Given the description of an element on the screen output the (x, y) to click on. 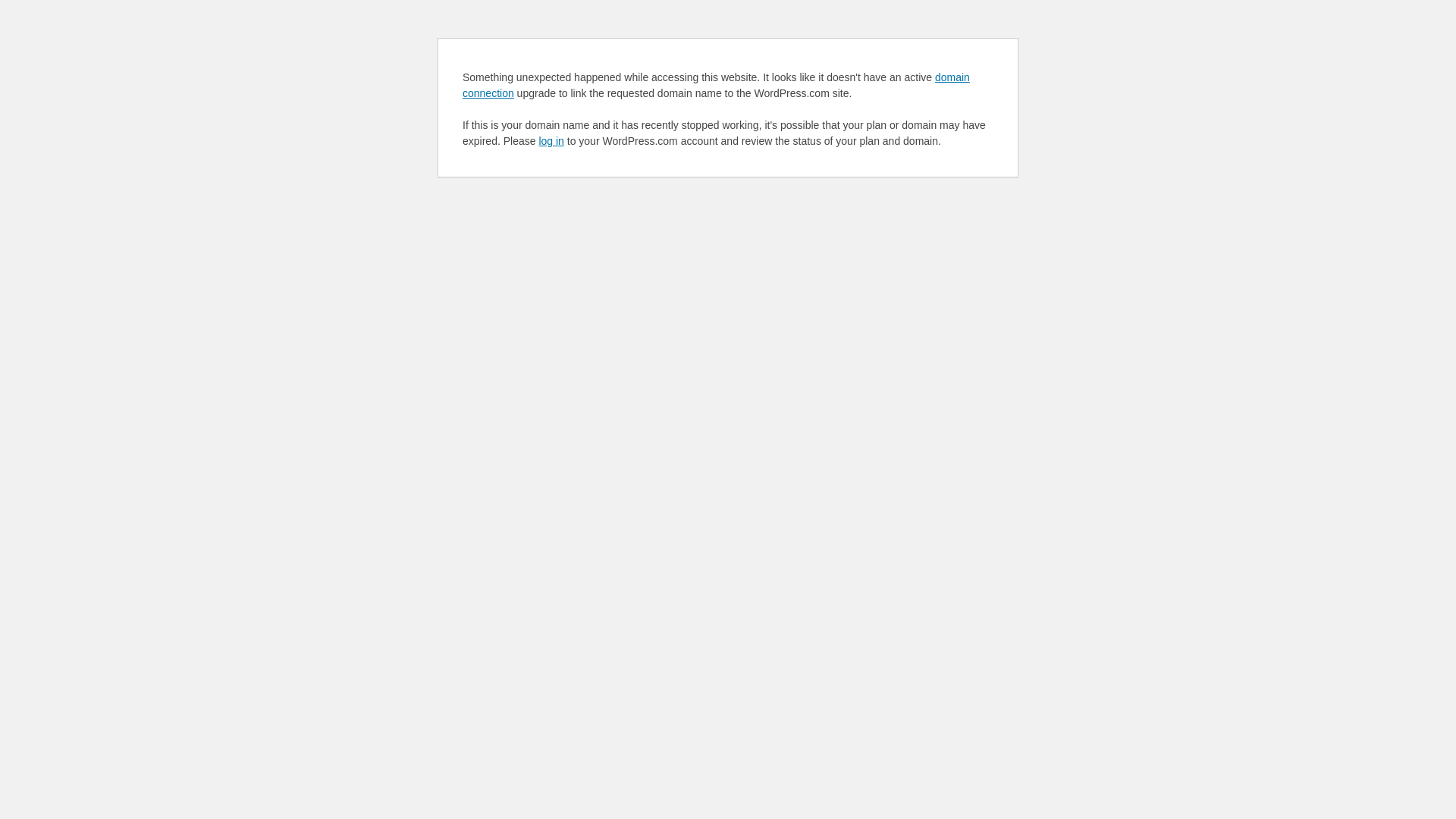
domain connection Element type: text (715, 85)
log in Element type: text (550, 140)
